Given the description of an element on the screen output the (x, y) to click on. 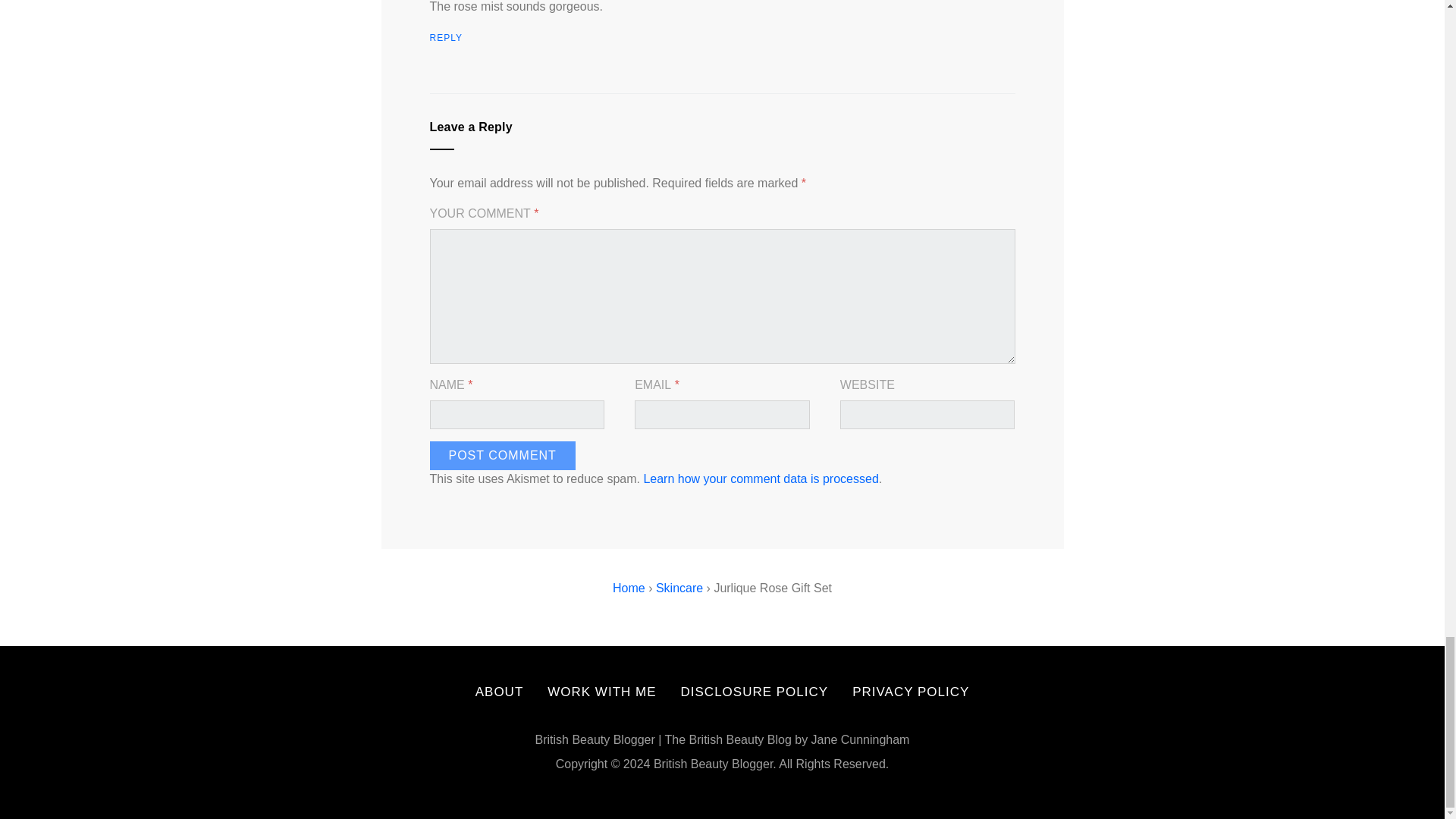
Post Comment (502, 455)
ABOUT (500, 691)
Skincare (679, 587)
Post Comment (502, 455)
REPLY (445, 37)
Home (628, 587)
PRIVACY POLICY (910, 691)
WORK WITH ME (601, 691)
Learn how your comment data is processed (760, 478)
DISCLOSURE POLICY (754, 691)
